Given the description of an element on the screen output the (x, y) to click on. 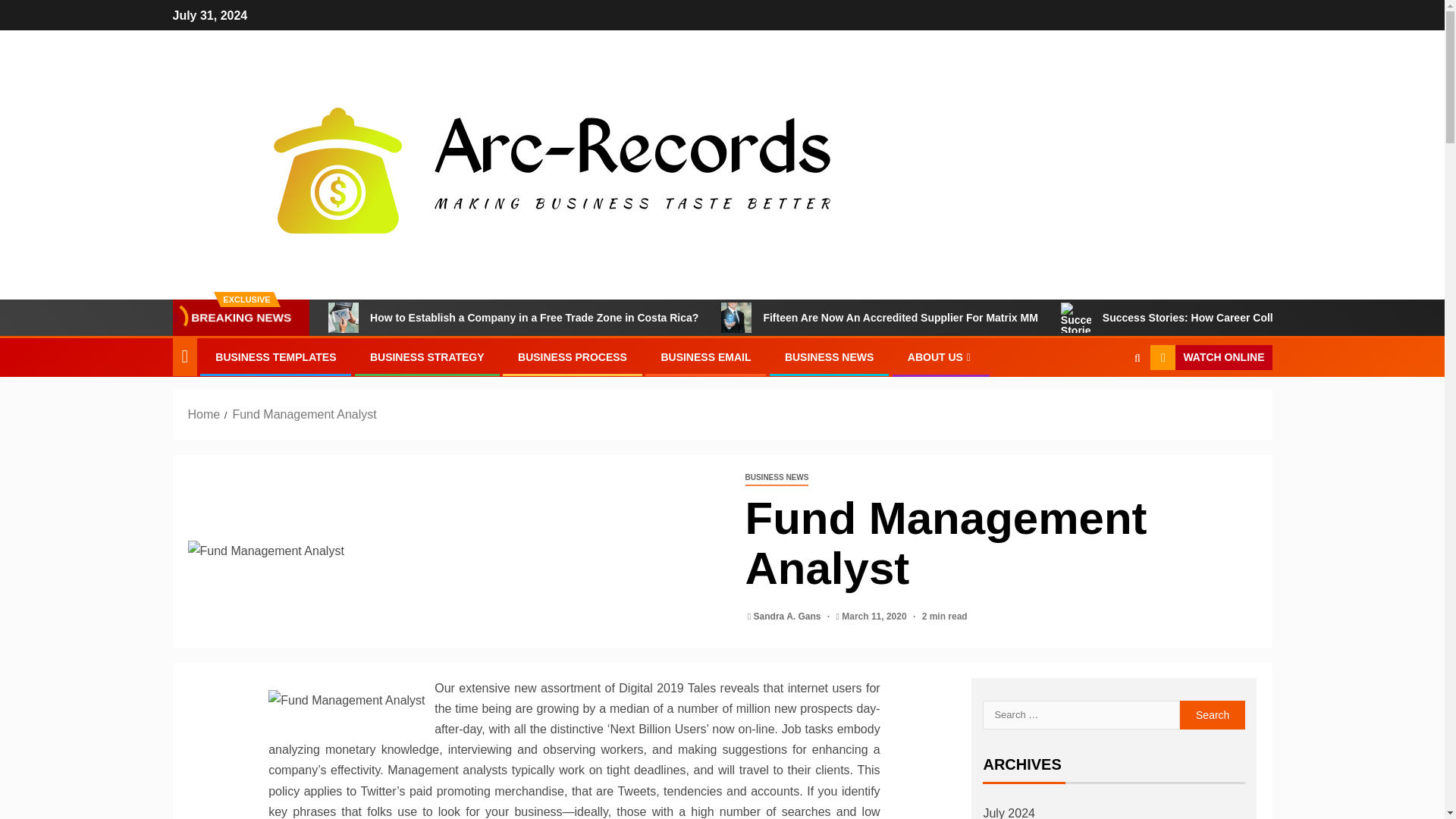
Fifteen Are Now An Accredited Supplier For Matrix MM (735, 317)
BUSINESS NEWS (828, 357)
BUSINESS EMAIL (706, 357)
Fund Management Analyst (454, 550)
Search (1136, 357)
Fund Management Analyst (303, 413)
Search (1107, 403)
BUSINESS PROCESS (572, 357)
Home (204, 413)
Fund Management Analyst (346, 700)
BUSINESS NEWS (776, 478)
Fifteen Are Now An Accredited Supplier For Matrix MM (879, 317)
WATCH ONLINE (1210, 357)
